Given the description of an element on the screen output the (x, y) to click on. 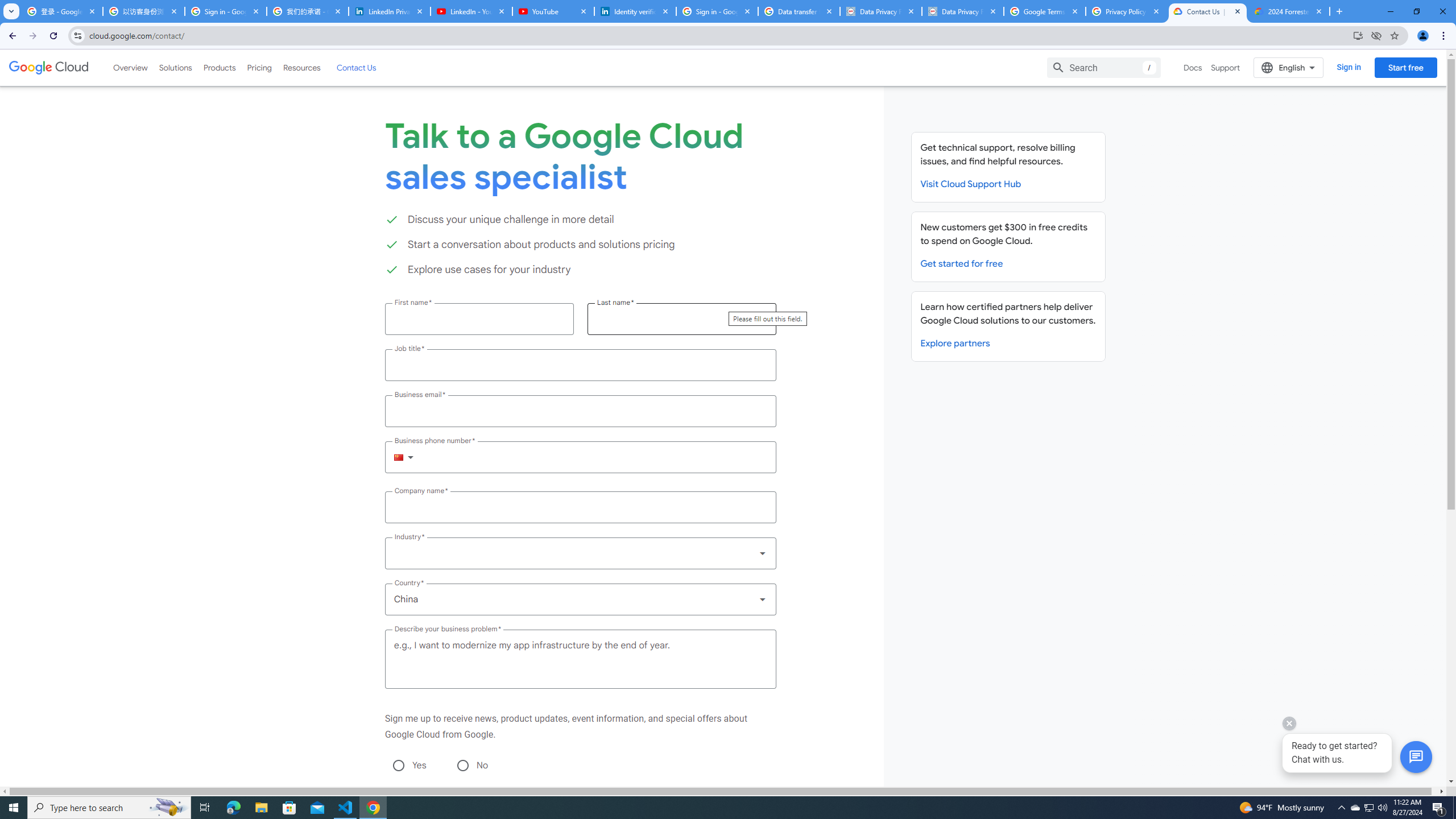
Company name * (580, 507)
Start free (1405, 67)
Resources (301, 67)
